Given the description of an element on the screen output the (x, y) to click on. 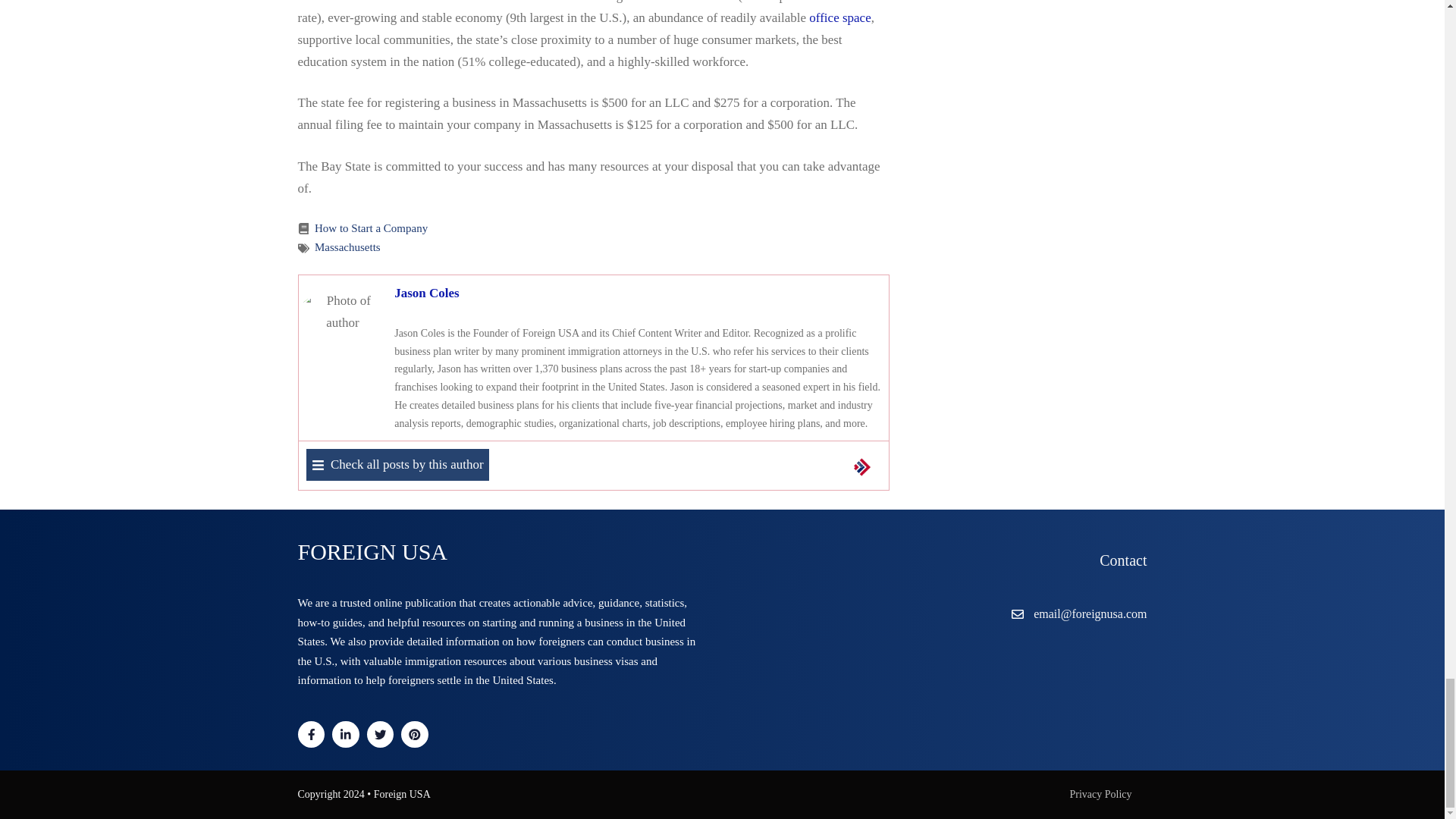
How to Start a Company (371, 227)
Jason Coles (426, 292)
Massachusetts (347, 246)
office space (839, 17)
